Given the description of an element on the screen output the (x, y) to click on. 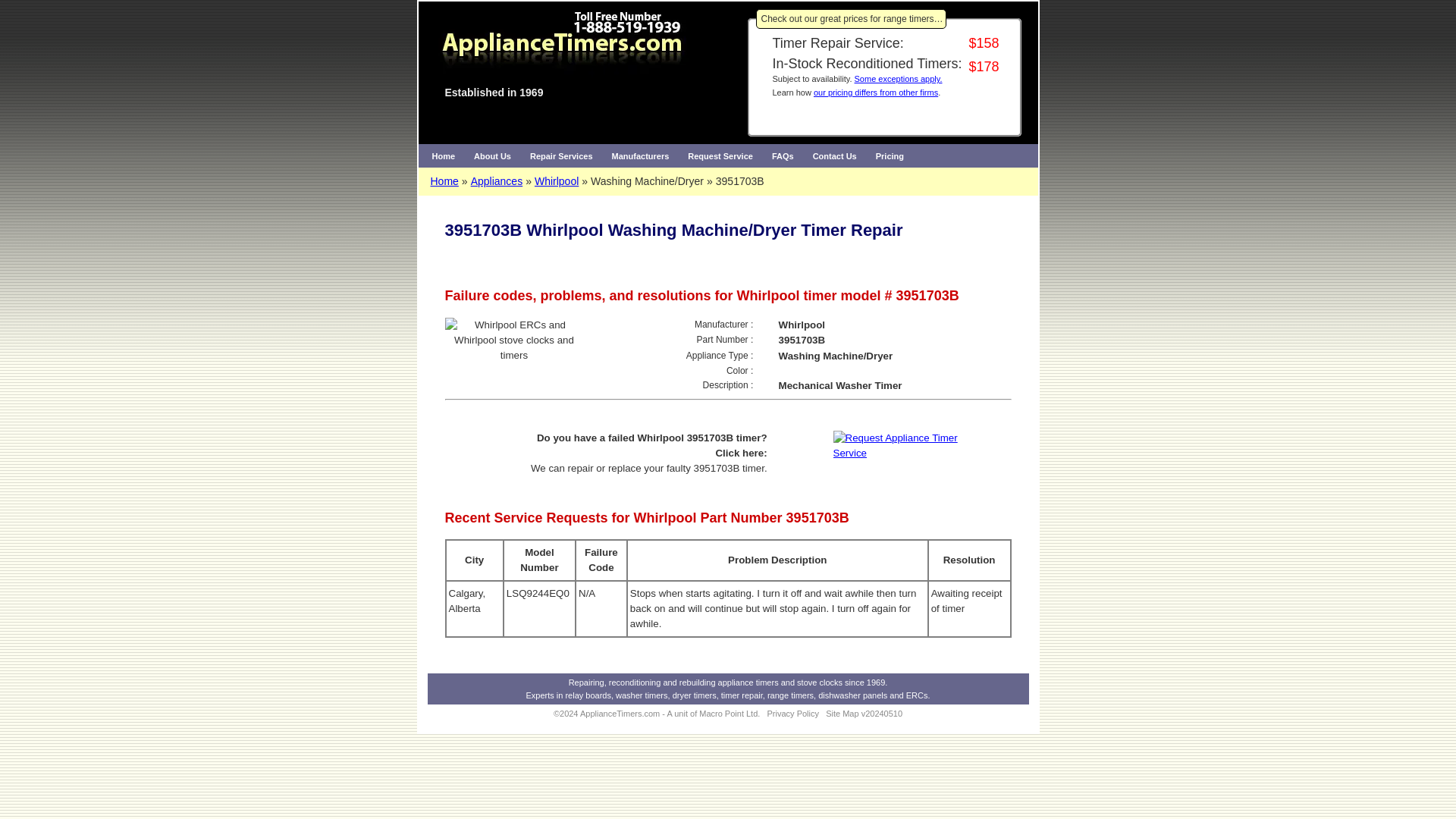
Find answers to questions commonly asked by our visitors (782, 156)
About Us (491, 156)
Home (444, 181)
Contact Us (834, 156)
Whirlpool (556, 181)
Privacy Policy (792, 713)
Home (443, 156)
Pricing (889, 156)
Request Service (719, 156)
Some exceptions apply. (898, 78)
